Given the description of an element on the screen output the (x, y) to click on. 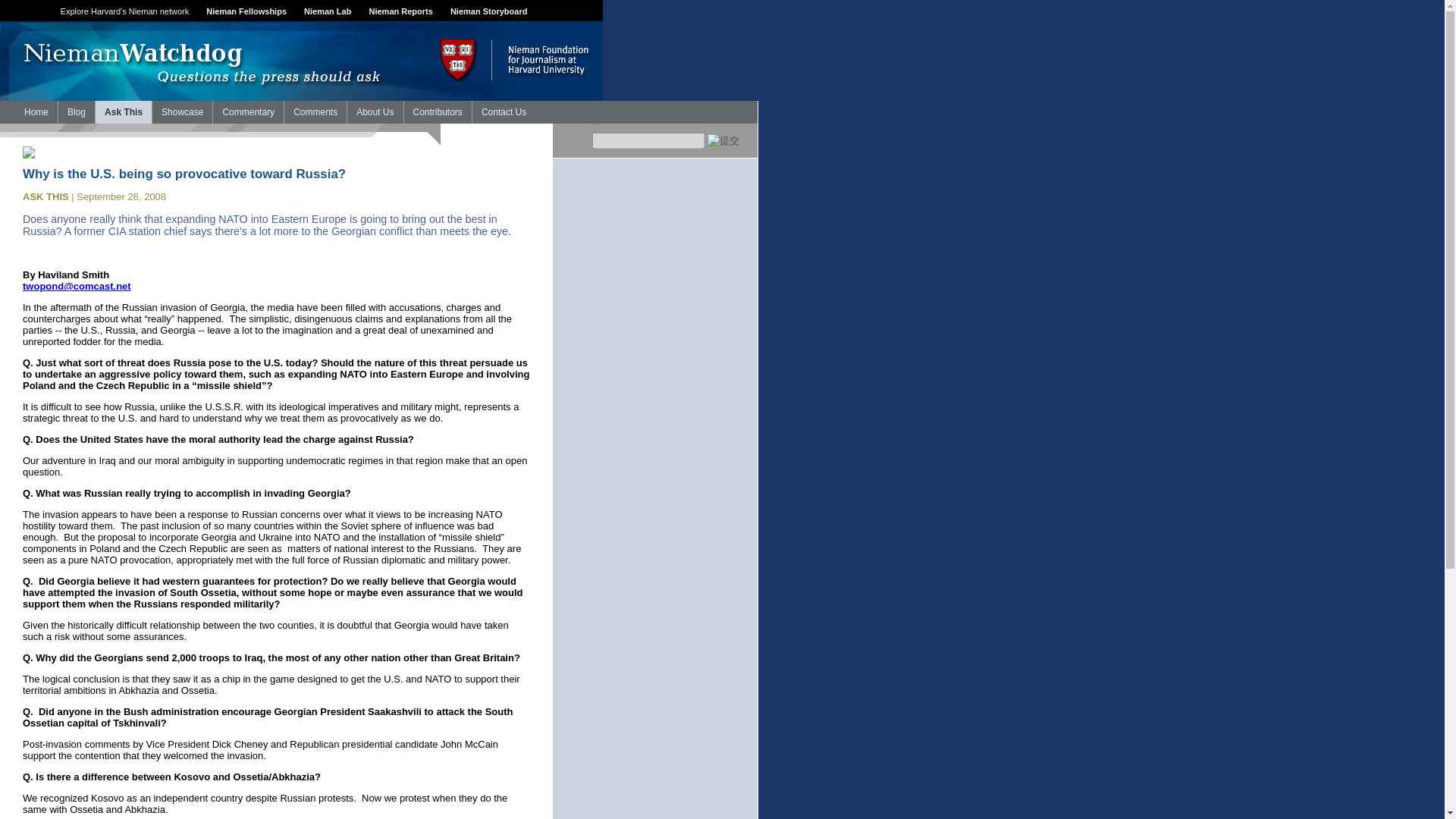
Home (36, 112)
Nieman Storyboard (488, 10)
Nieman Reports (400, 10)
Blog (76, 112)
Explore Harvard's Nieman network (125, 10)
Nieman Lab (327, 10)
Comments (314, 112)
Contact Us (503, 112)
Ask This (123, 112)
Nieman Fellowships (246, 10)
Showcase (182, 112)
Commentary (247, 112)
Contributors (436, 112)
About Us (375, 112)
